Given the description of an element on the screen output the (x, y) to click on. 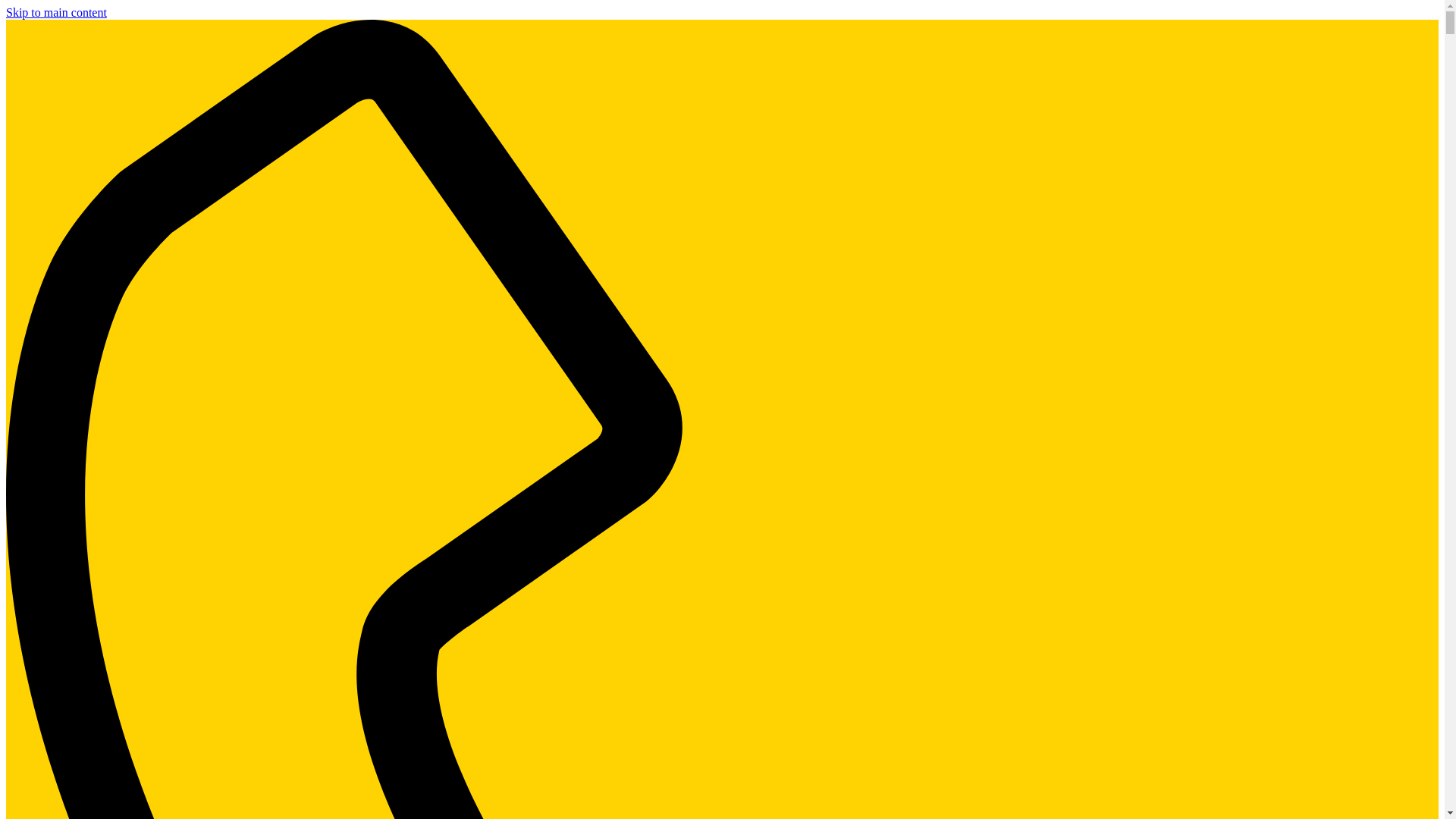
Skip to main content (55, 11)
